Given the description of an element on the screen output the (x, y) to click on. 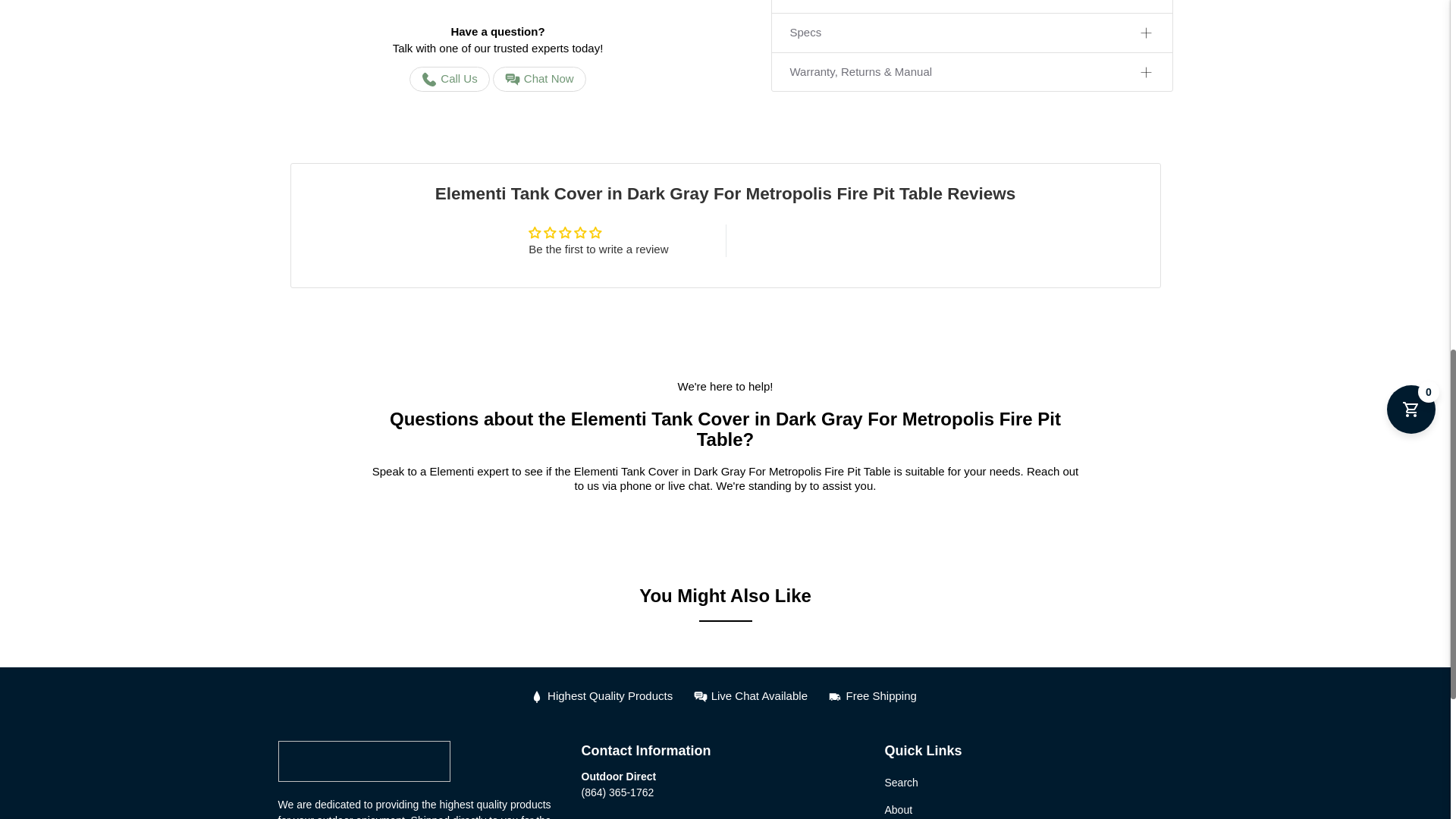
1 (876, 29)
Outdoor Direct (363, 768)
